Given the description of an element on the screen output the (x, y) to click on. 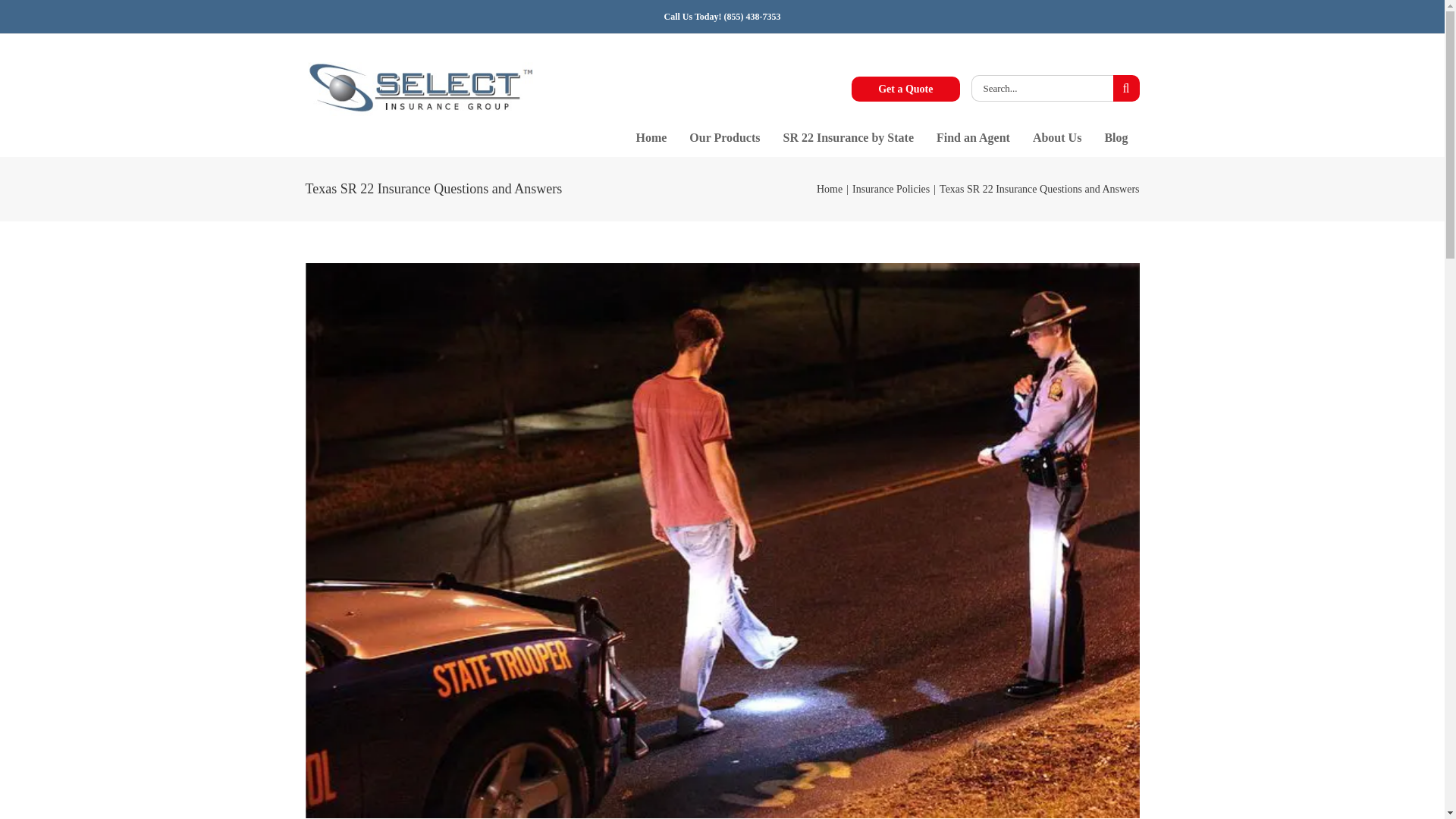
SR 22 Insurance by State (847, 137)
Get a Quote (905, 88)
Our Products (724, 137)
Home (651, 137)
